Given the description of an element on the screen output the (x, y) to click on. 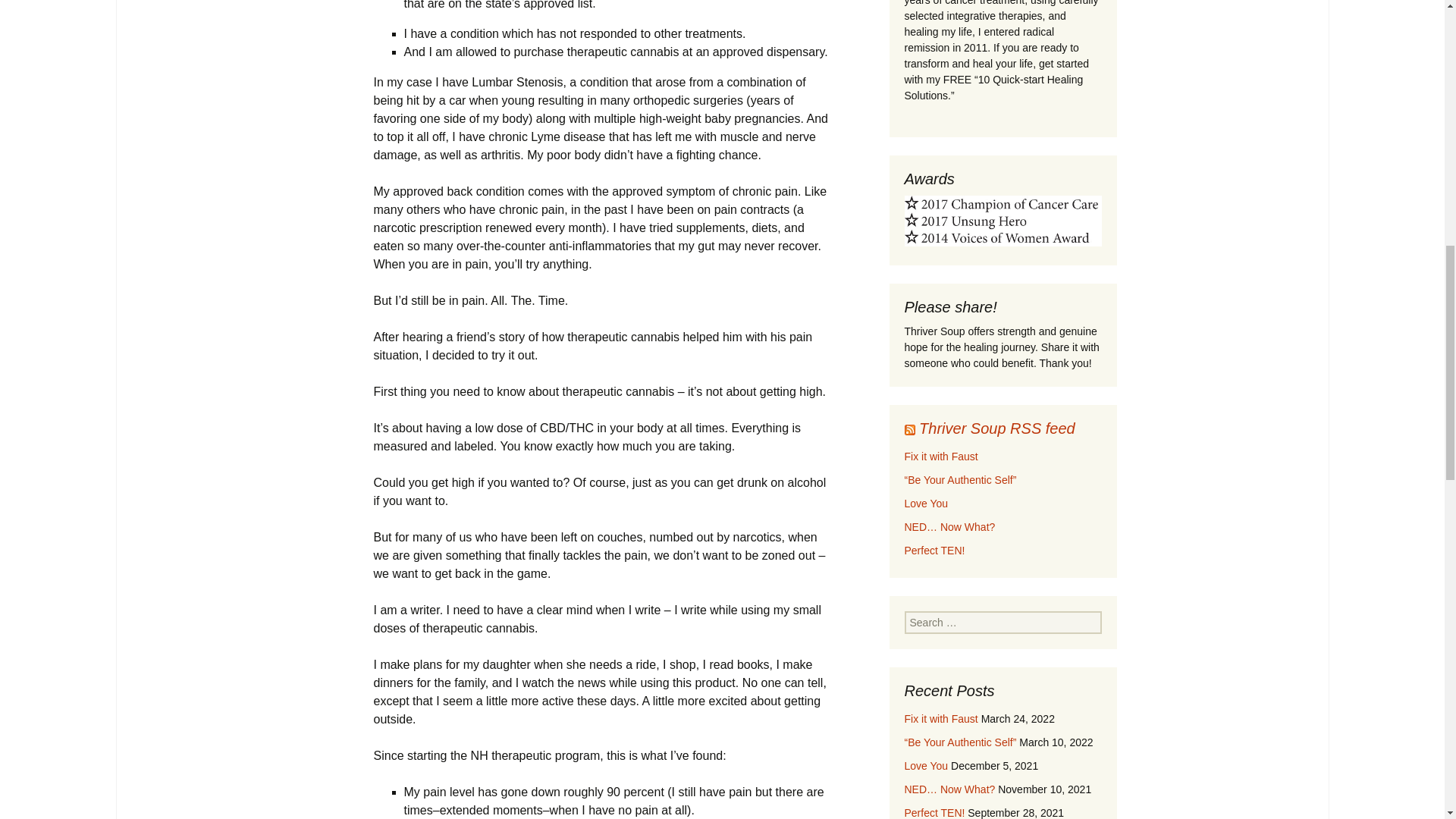
Perfect TEN! (933, 550)
Fix it with Faust (940, 456)
Perfect TEN! (933, 812)
Fix it with Faust (940, 718)
Love You (925, 503)
Thriver Soup RSS feed (996, 428)
Love You (925, 766)
